Given the description of an element on the screen output the (x, y) to click on. 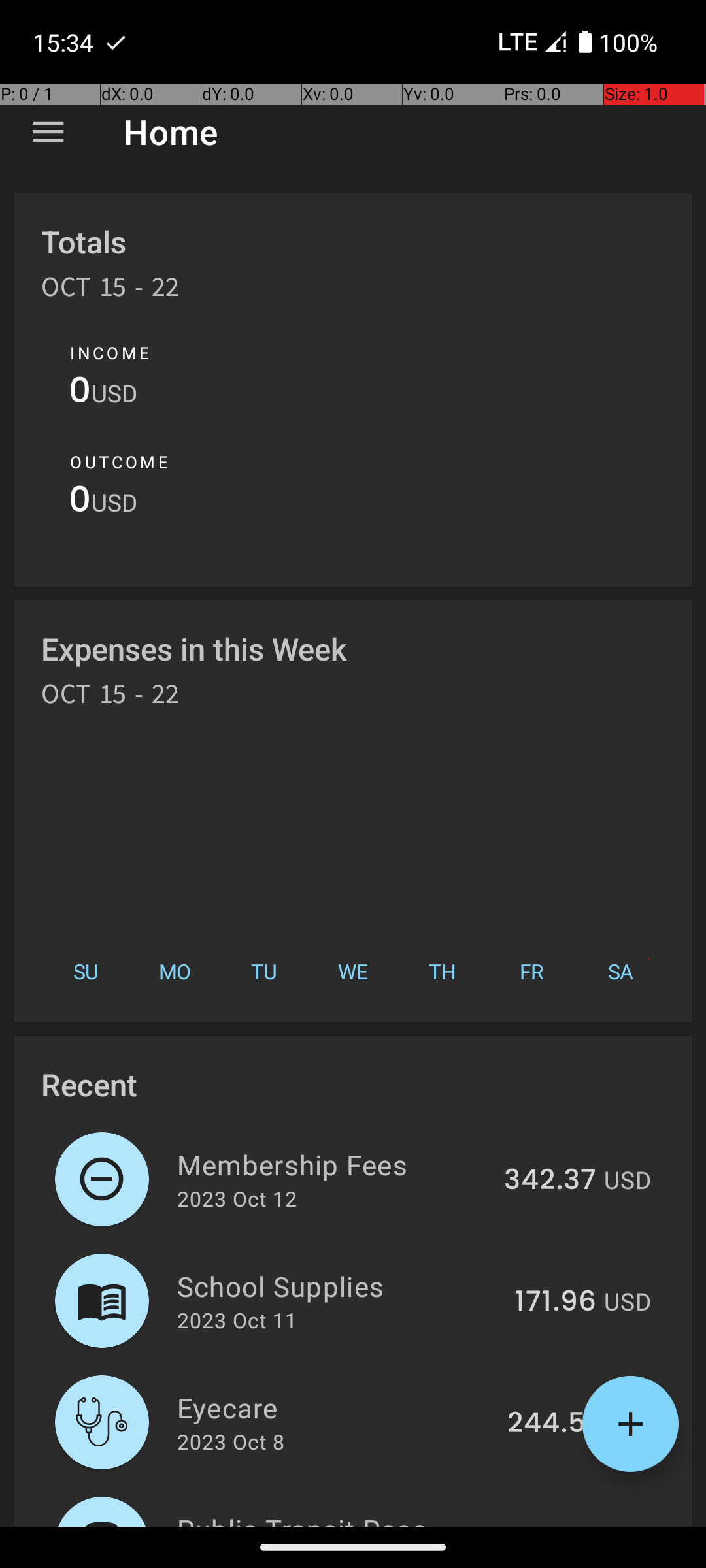
342.37 Element type: android.widget.TextView (549, 1180)
School Supplies Element type: android.widget.TextView (338, 1285)
171.96 Element type: android.widget.TextView (555, 1301)
Eyecare Element type: android.widget.TextView (334, 1407)
244.51 Element type: android.widget.TextView (551, 1423)
Public Transit Pass Element type: android.widget.TextView (339, 1518)
411.22 Element type: android.widget.TextView (556, 1524)
